Given the description of an element on the screen output the (x, y) to click on. 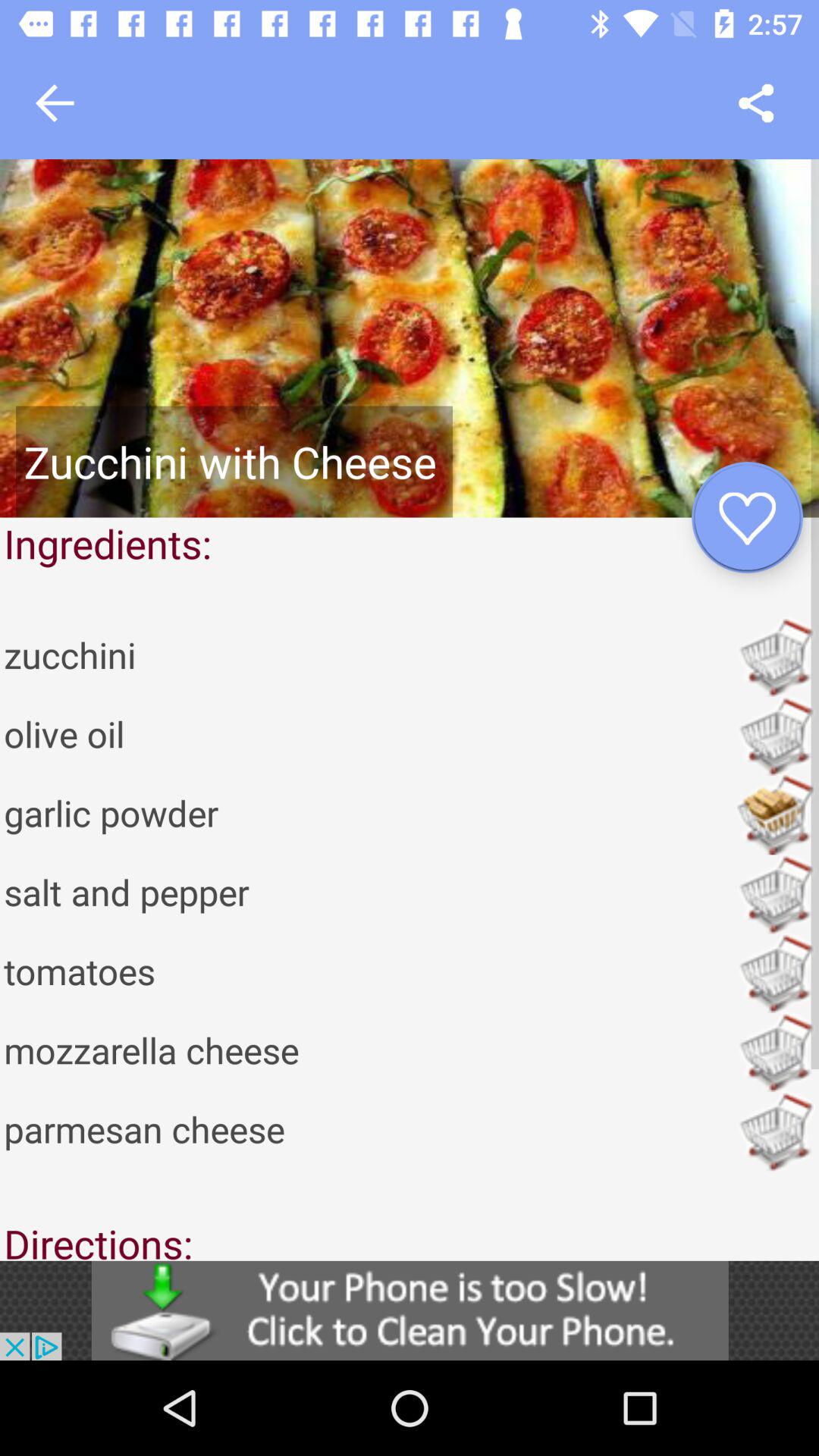
advertisement about clean your phone (409, 1310)
